Given the description of an element on the screen output the (x, y) to click on. 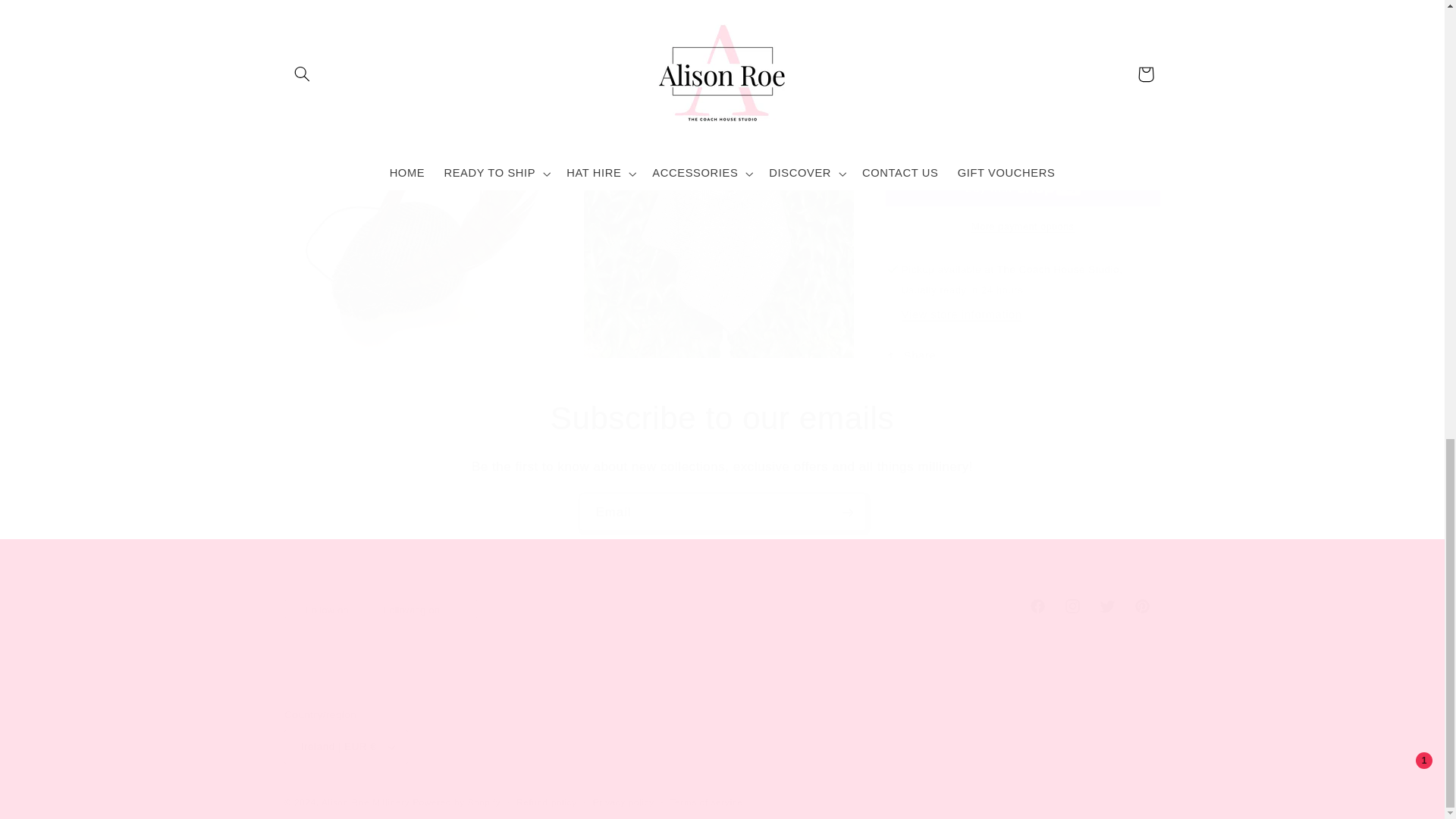
Open media 2 in modal (418, 93)
Open media 3 in modal (718, 93)
1 (939, 72)
Email (721, 605)
Subscribe to our emails (722, 511)
